Given the description of an element on the screen output the (x, y) to click on. 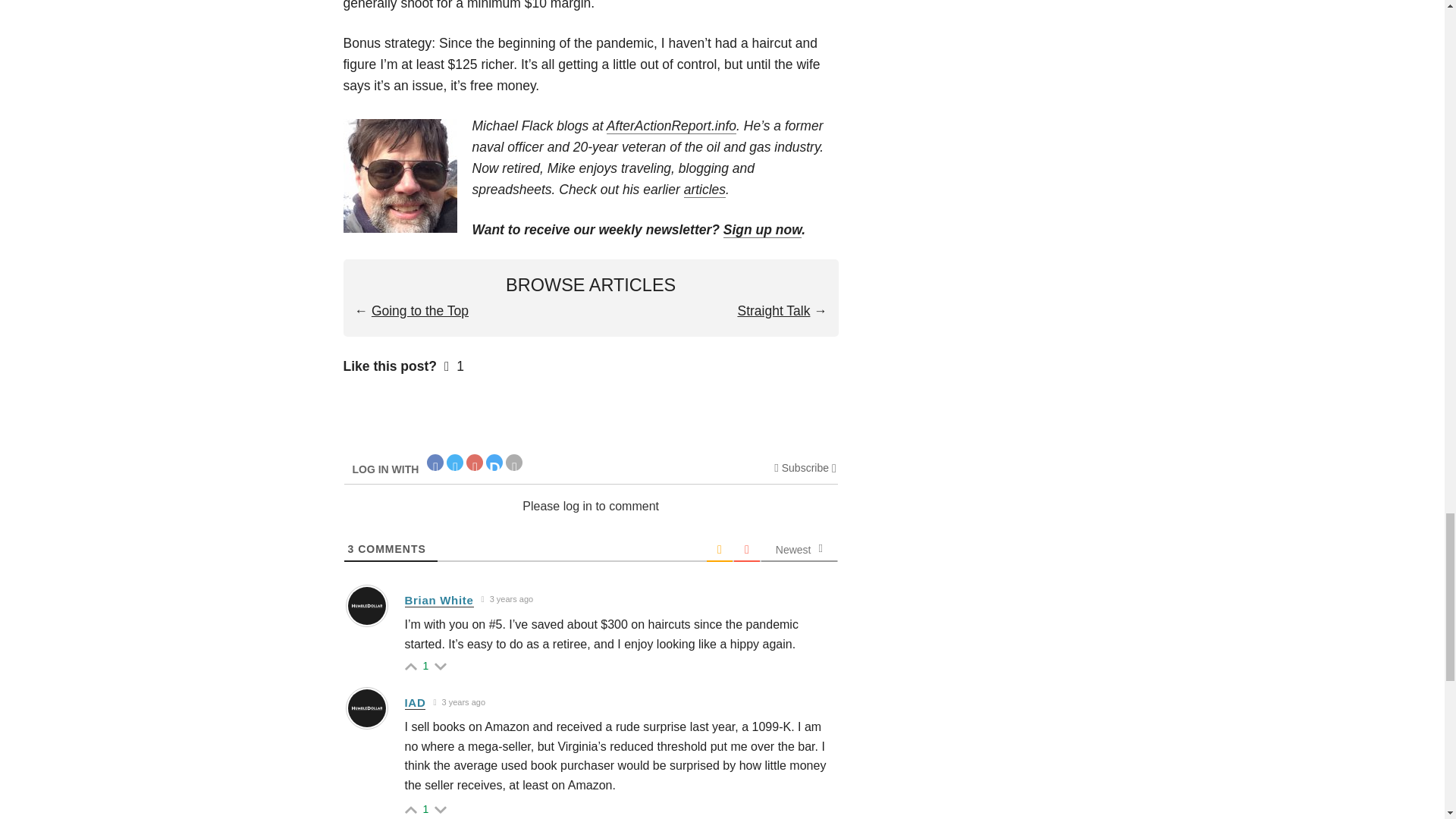
Going to the Top (419, 310)
articles (704, 189)
AfterActionReport.info (671, 125)
IAD (415, 703)
May 8, 2021 12:57 pm (507, 599)
Brian White (439, 600)
1 (425, 665)
Straight Talk (772, 310)
April 28, 2021 7:47 am (459, 702)
1 (425, 808)
Sign up now (762, 229)
